Given the description of an element on the screen output the (x, y) to click on. 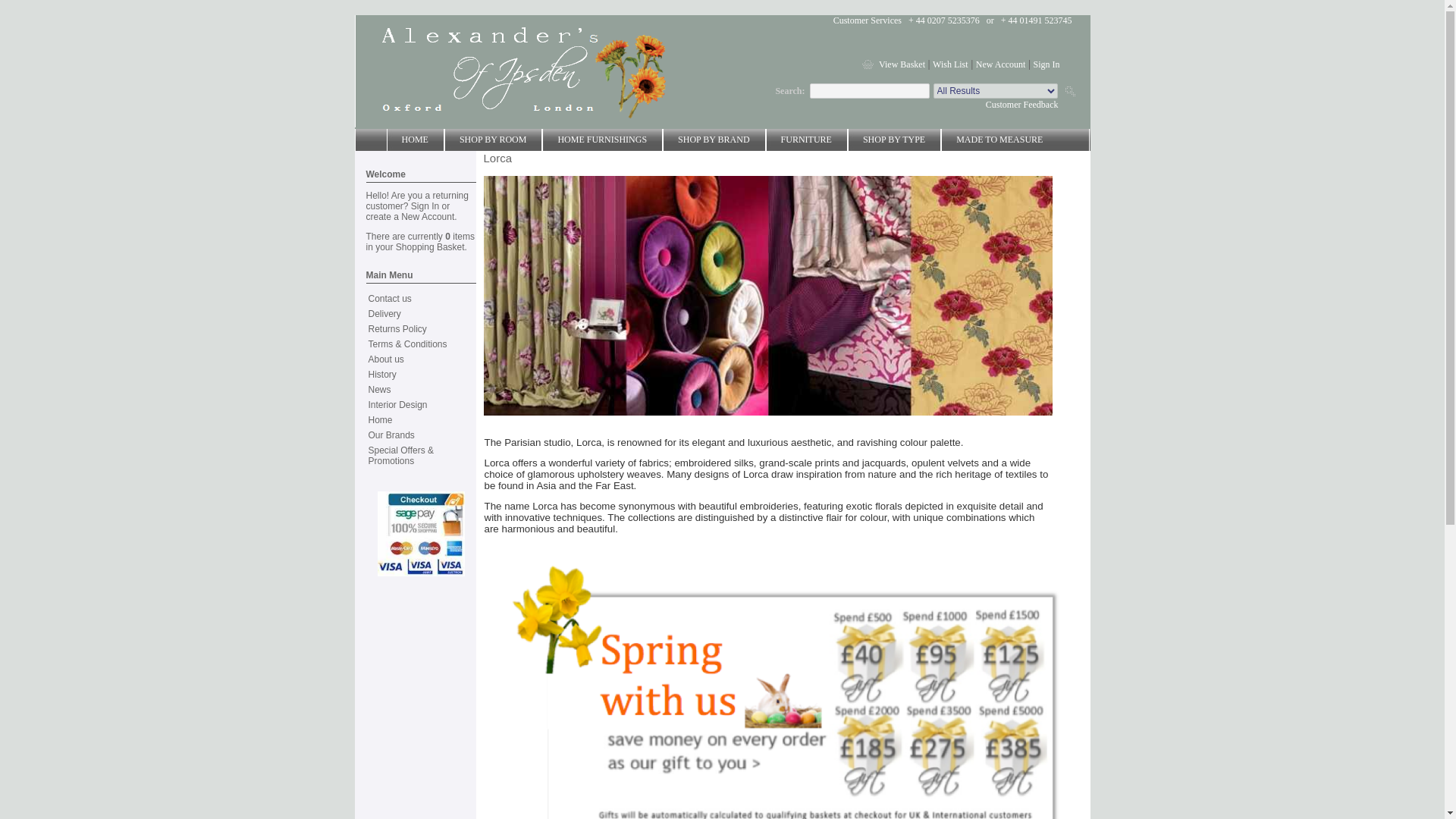
Go (1069, 91)
HOME FURNISHINGS (601, 139)
Interior Design (398, 404)
About us (386, 358)
Customer Feedback (1021, 104)
Go (1069, 91)
Sign In (424, 205)
News (379, 389)
SHOP BY ROOM (492, 139)
Shopping Basket (430, 246)
